Given the description of an element on the screen output the (x, y) to click on. 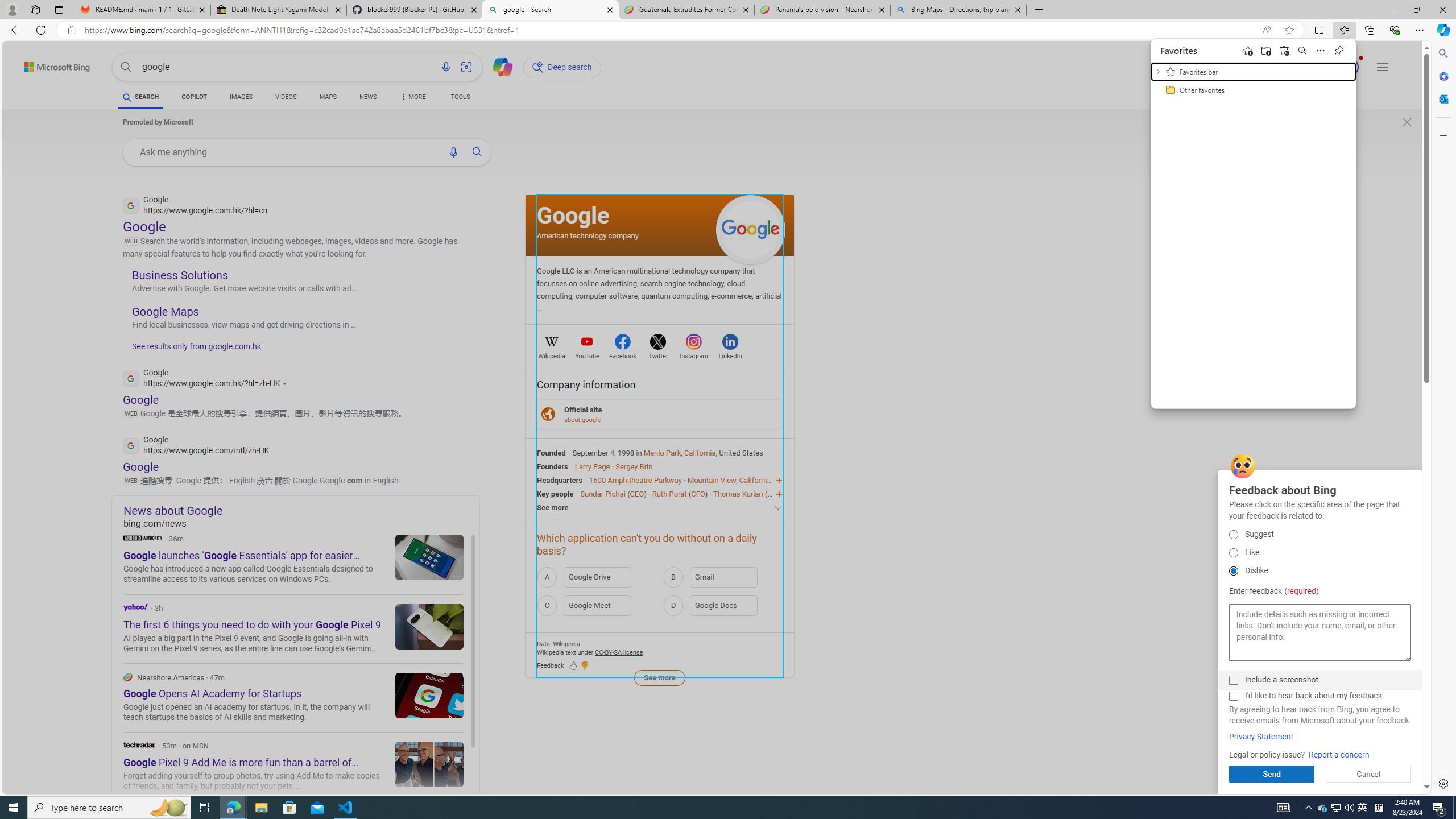
User Promoted Notification Area (1336, 807)
Microsoft Store (289, 807)
Like (1232, 552)
Visual Studio Code - 1 running window (345, 807)
Suggest (1232, 533)
Restore deleted favorites (1335, 807)
Microsoft Edge - 2 running windows (1284, 49)
AutomationID: 4105 (233, 807)
File Explorer (1283, 807)
